Given the description of an element on the screen output the (x, y) to click on. 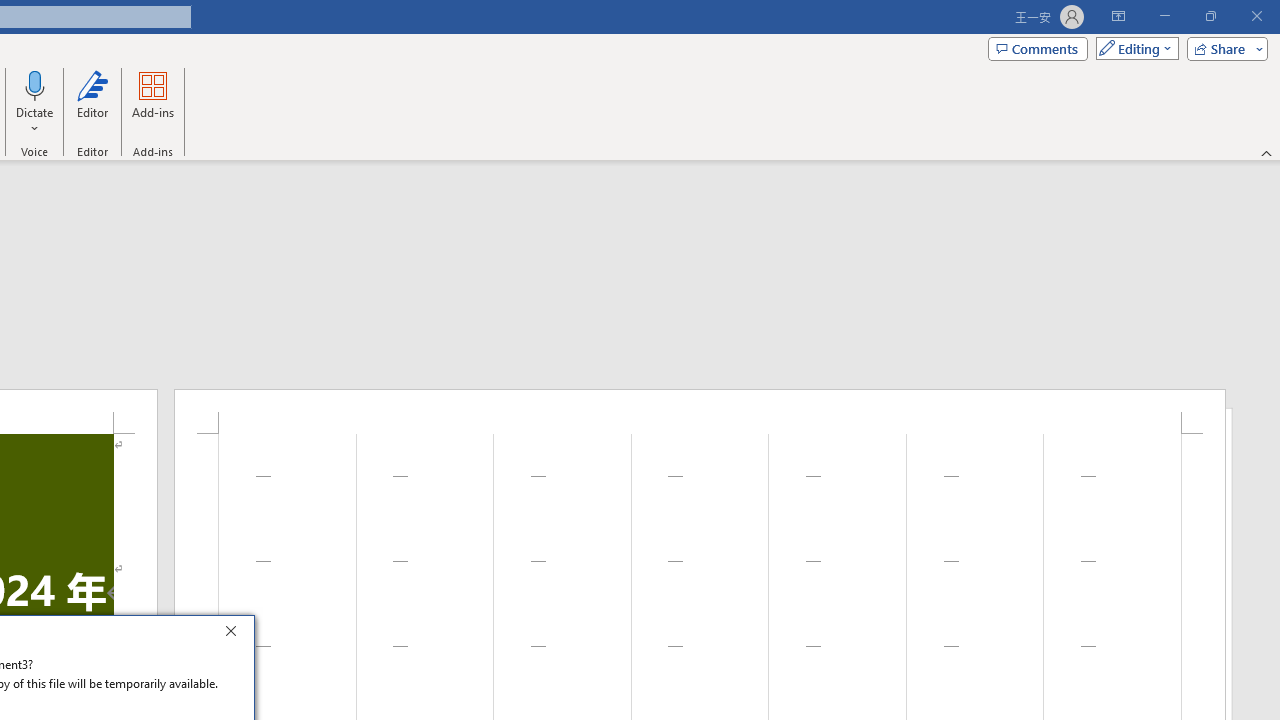
Header -Section 1- (700, 411)
Editor (92, 102)
Ribbon Display Options (1118, 16)
Mode (1133, 47)
